Given the description of an element on the screen output the (x, y) to click on. 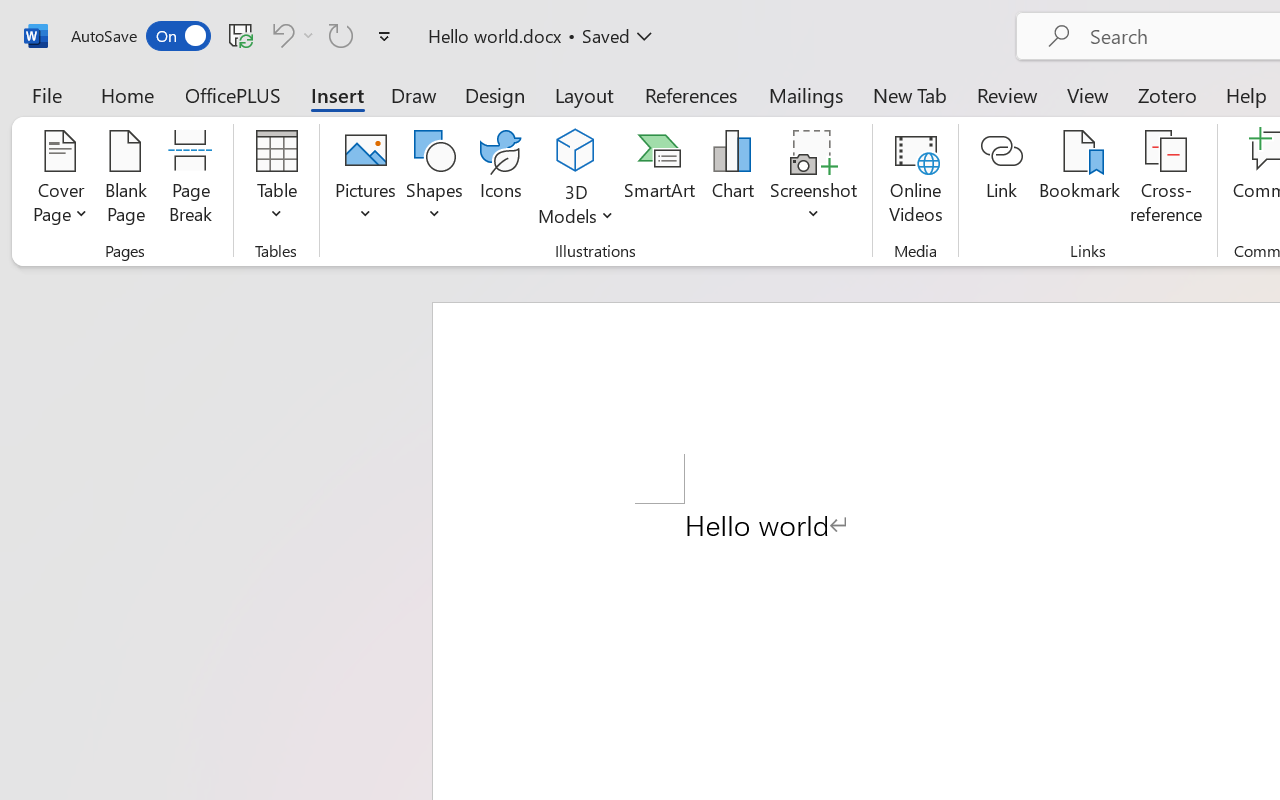
File Tab (46, 94)
Can't Undo (280, 35)
Page Break (190, 179)
Chart... (732, 179)
AutoSave (140, 35)
SmartArt... (659, 179)
Screenshot (813, 179)
Quick Access Toolbar (233, 36)
Save (241, 35)
3D Models (576, 151)
Review (1007, 94)
Draw (413, 94)
Zotero (1166, 94)
OfficePLUS (233, 94)
View (1087, 94)
